Given the description of an element on the screen output the (x, y) to click on. 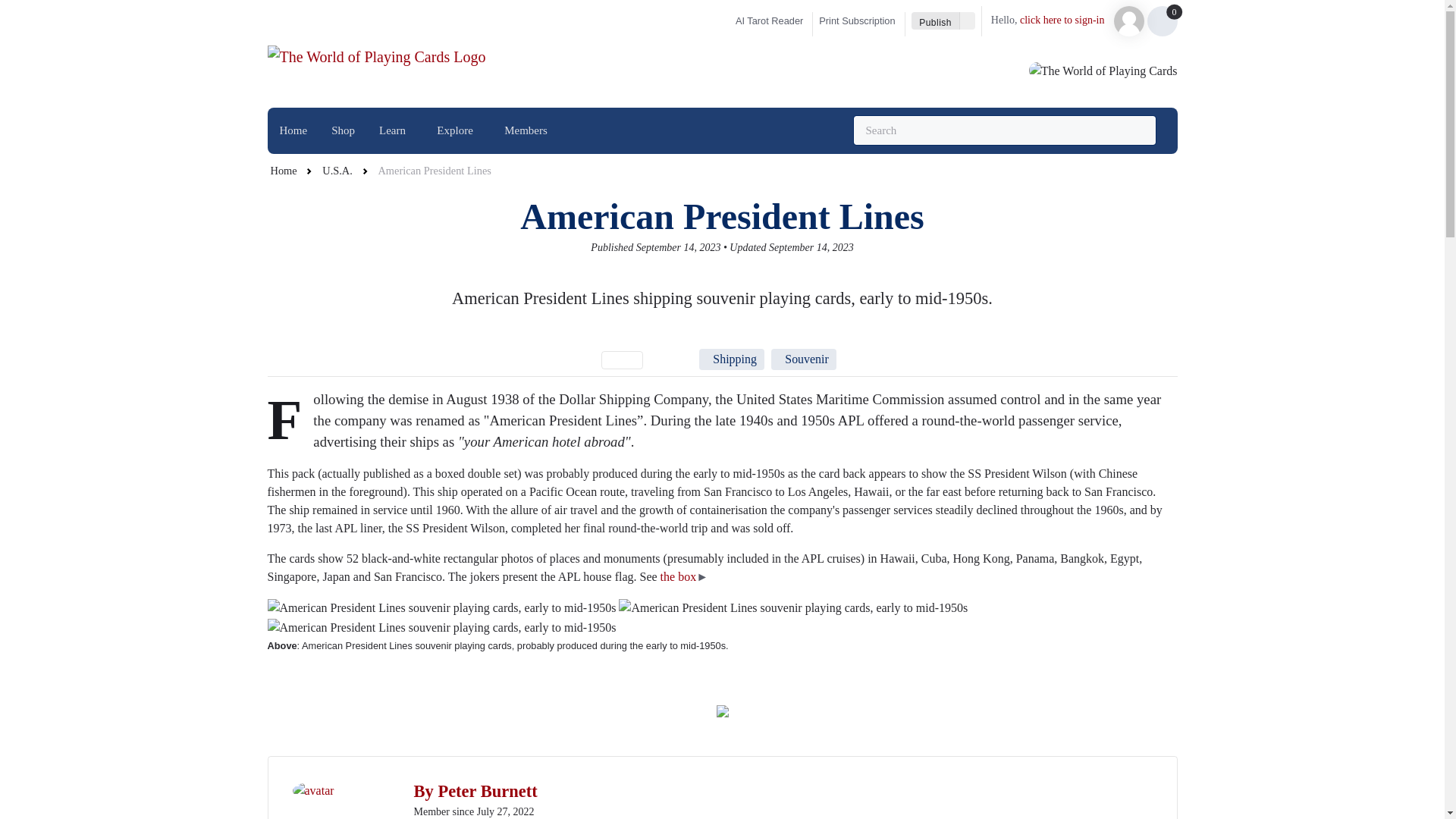
Home (292, 130)
AI Tarot Reader (767, 21)
Shop (342, 130)
Print Subscription (861, 21)
click here to sign-in (1062, 19)
Learn (395, 130)
654 Articles (669, 358)
Toggle Dropdown (967, 20)
